Given the description of an element on the screen output the (x, y) to click on. 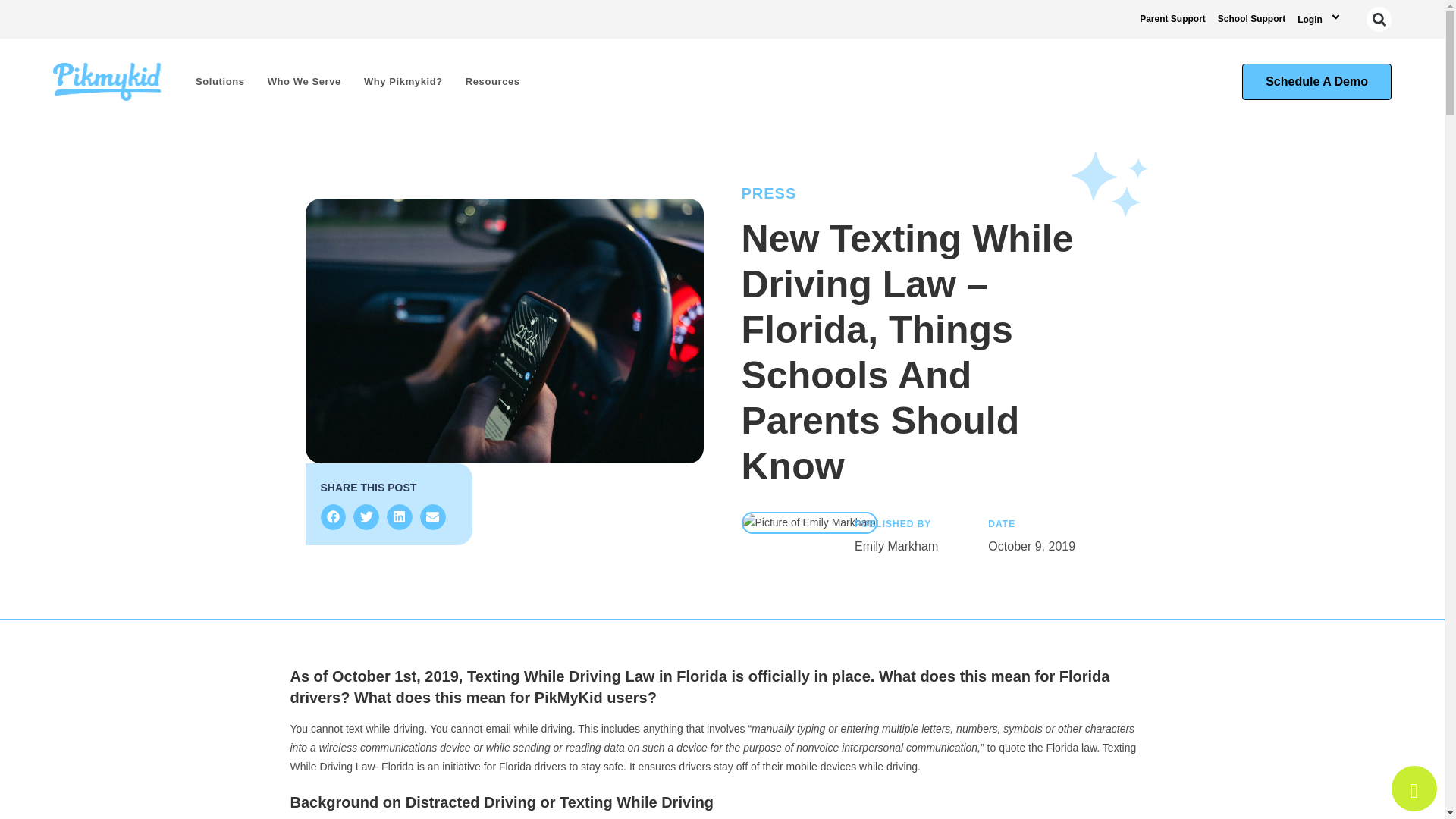
School Support (1251, 18)
Parent Support (1172, 18)
Login (1321, 19)
Solutions (220, 81)
Who We Serve (304, 81)
Why Pikmykid? (403, 81)
